Given the description of an element on the screen output the (x, y) to click on. 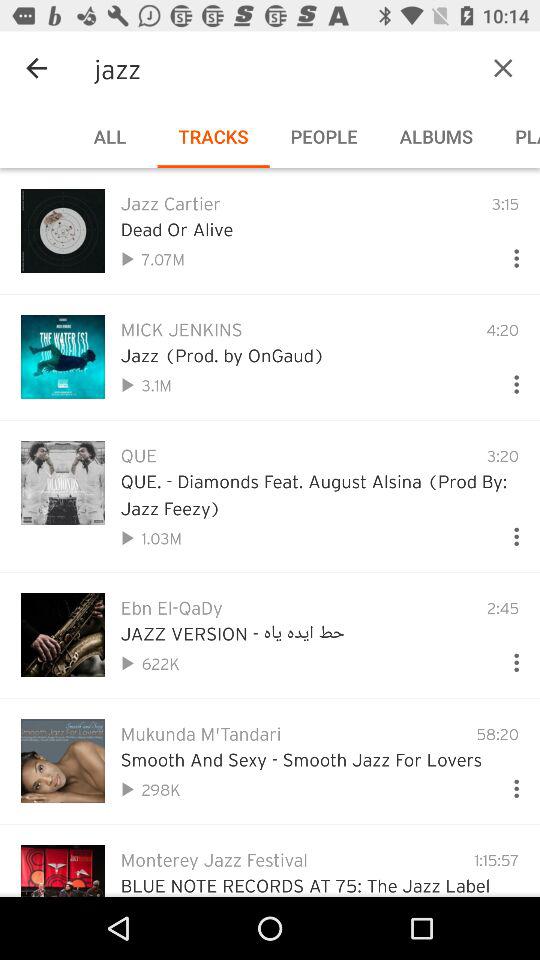
select options (508, 658)
